Given the description of an element on the screen output the (x, y) to click on. 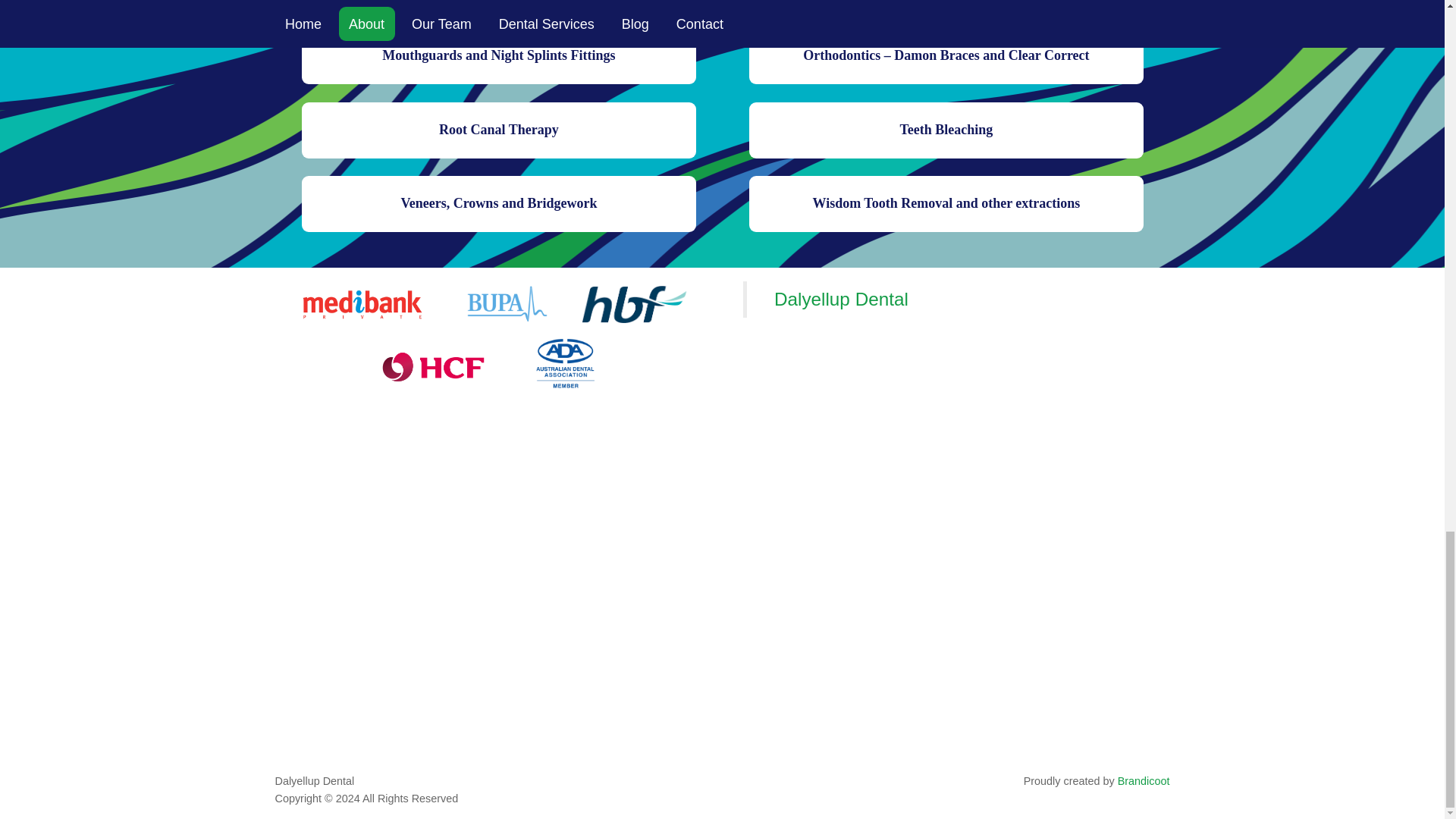
Wisdom Tooth Removal and other extractions (945, 203)
Dalyellup Dental (841, 299)
Metal and Tooth-Coloured Restorations (945, 5)
Mouthguards and Night Splints Fittings (498, 55)
Brandicoot (1144, 780)
Root Canal Therapy (498, 130)
Veneers, Crowns and Bridgework (498, 203)
Full, Partial or Immediate Dentures (498, 5)
Teeth Bleaching (945, 130)
